Given the description of an element on the screen output the (x, y) to click on. 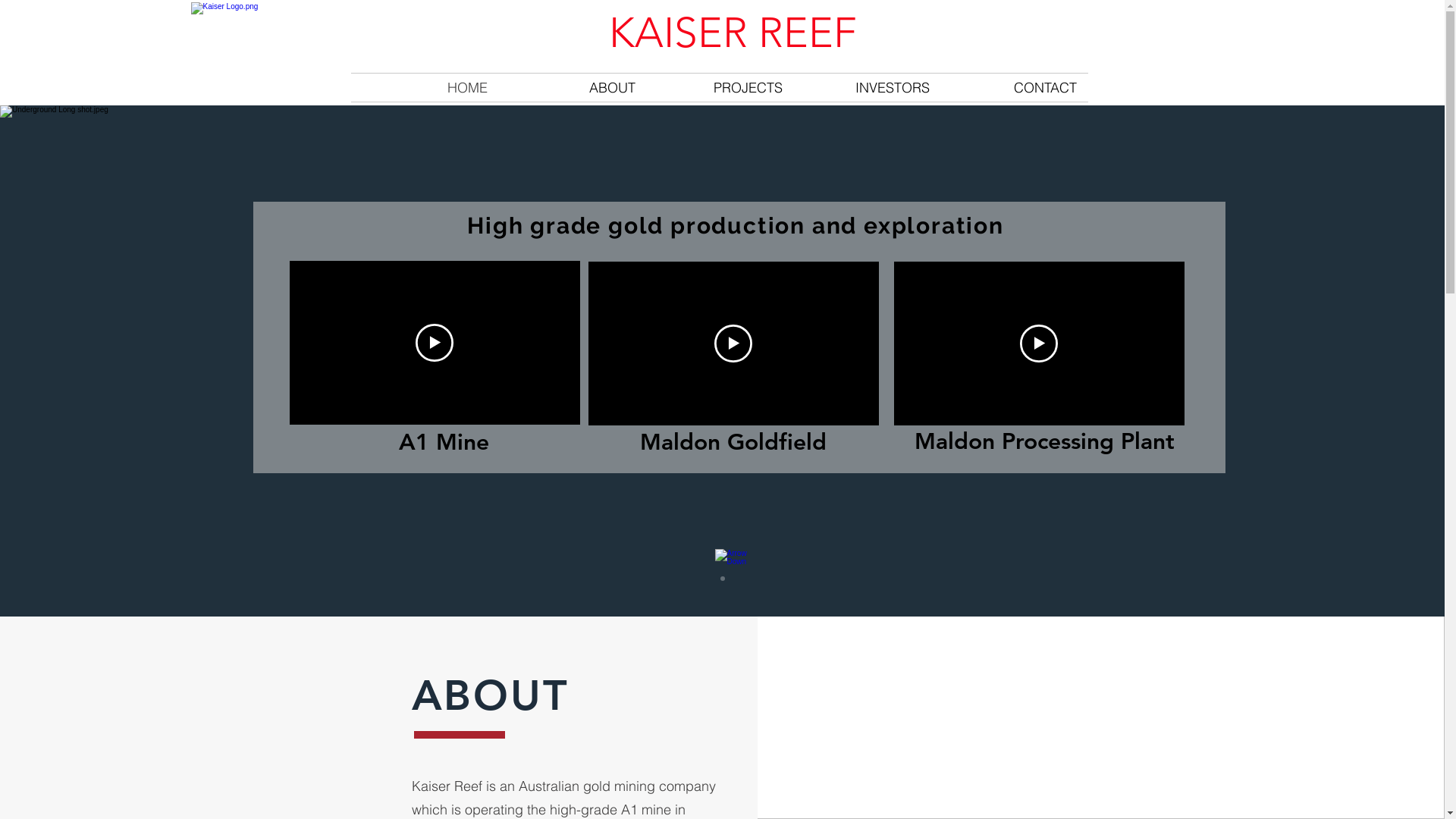
HOME Element type: text (424, 87)
CONTACT Element type: text (1013, 87)
INVESTORS Element type: text (866, 87)
PROJECTS Element type: text (719, 87)
ABOUT Element type: text (572, 87)
KAISER REEF  Element type: text (737, 32)
